Given the description of an element on the screen output the (x, y) to click on. 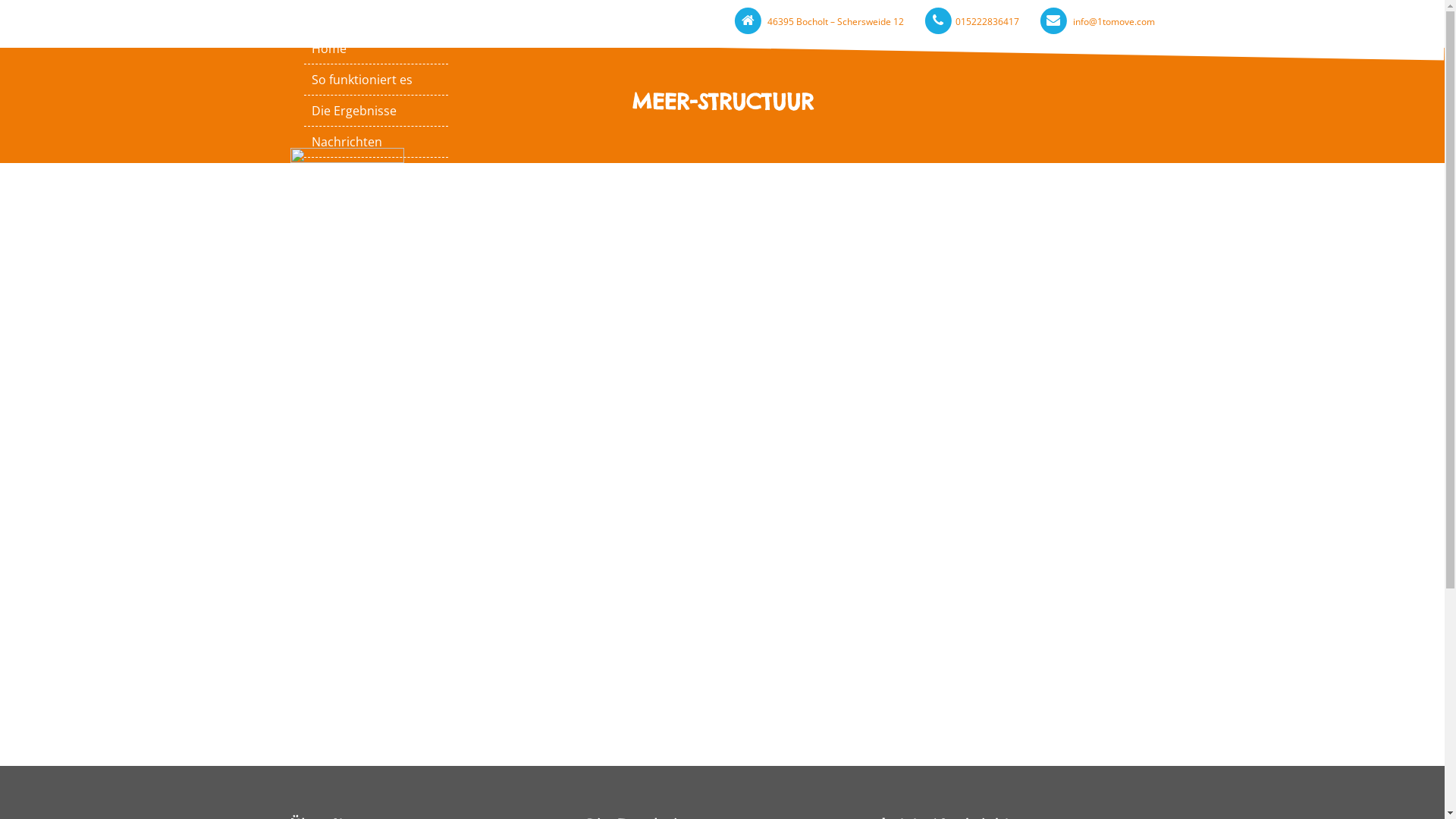
Die Ergebnisse Element type: text (376, 110)
Rundschreiben Element type: text (376, 234)
015222836417 Element type: text (986, 21)
Video Element type: text (376, 203)
Kontakt Element type: text (376, 172)
Nachrichten Element type: text (376, 141)
Home Element type: text (376, 48)
info@1tomove.com Element type: text (1113, 21)
So funktioniert es Element type: text (376, 79)
